Given the description of an element on the screen output the (x, y) to click on. 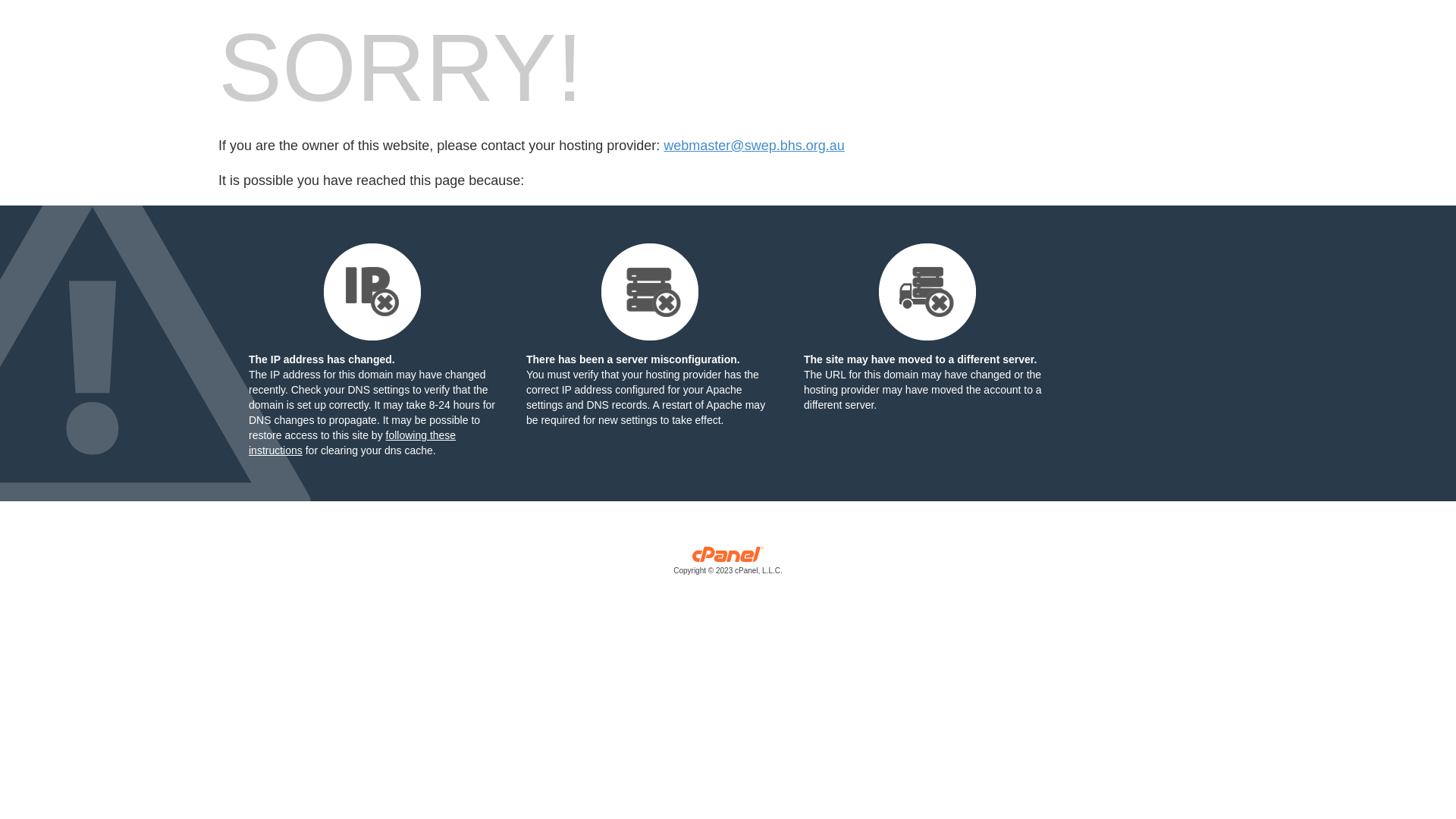
following these instructions Element type: text (351, 442)
webmaster@swep.bhs.org.au Element type: text (753, 145)
